Given the description of an element on the screen output the (x, y) to click on. 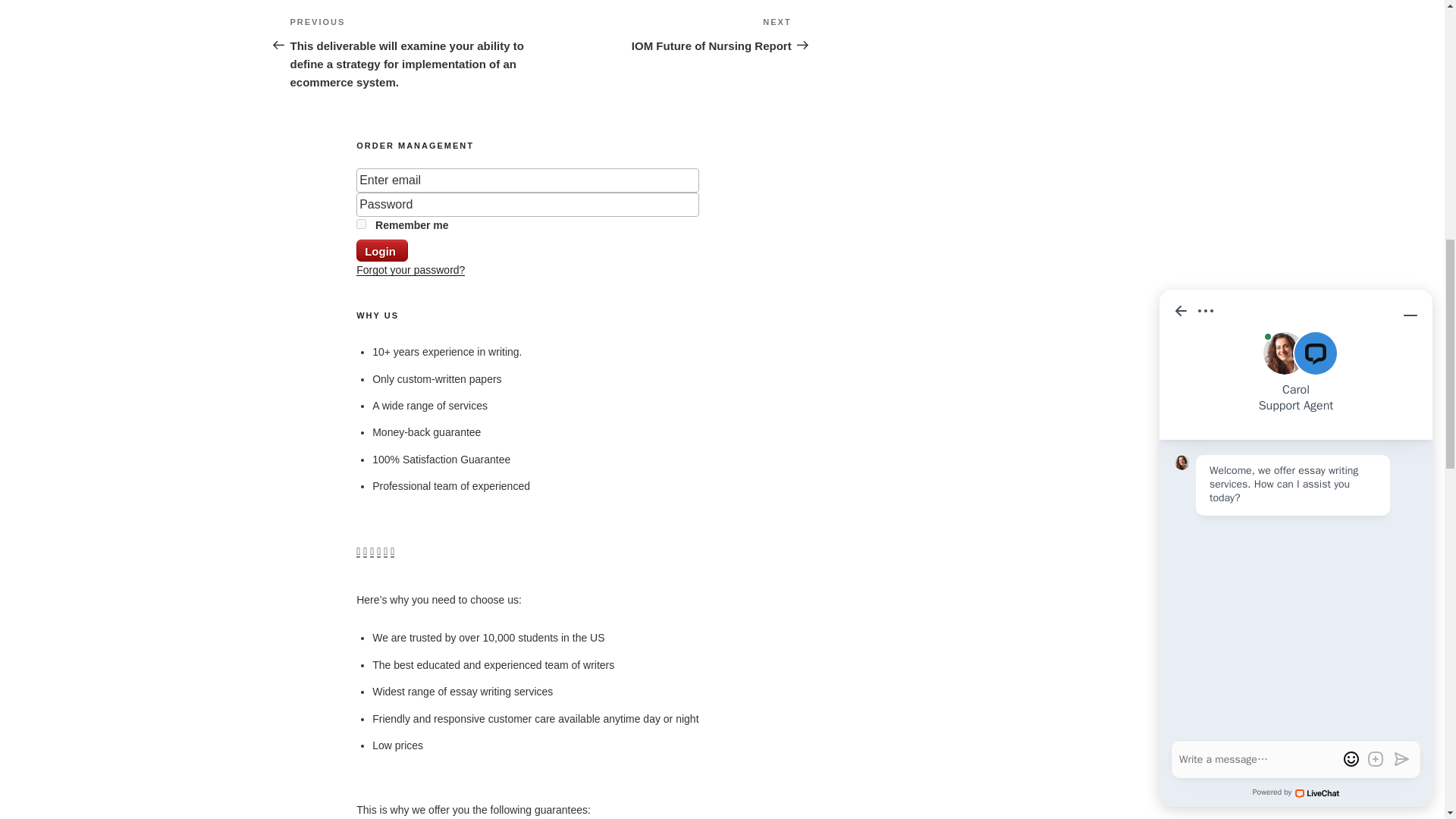
Recover password (410, 269)
on (361, 224)
Login (381, 250)
click to Login (381, 250)
Forgot your password? (410, 269)
